Given the description of an element on the screen output the (x, y) to click on. 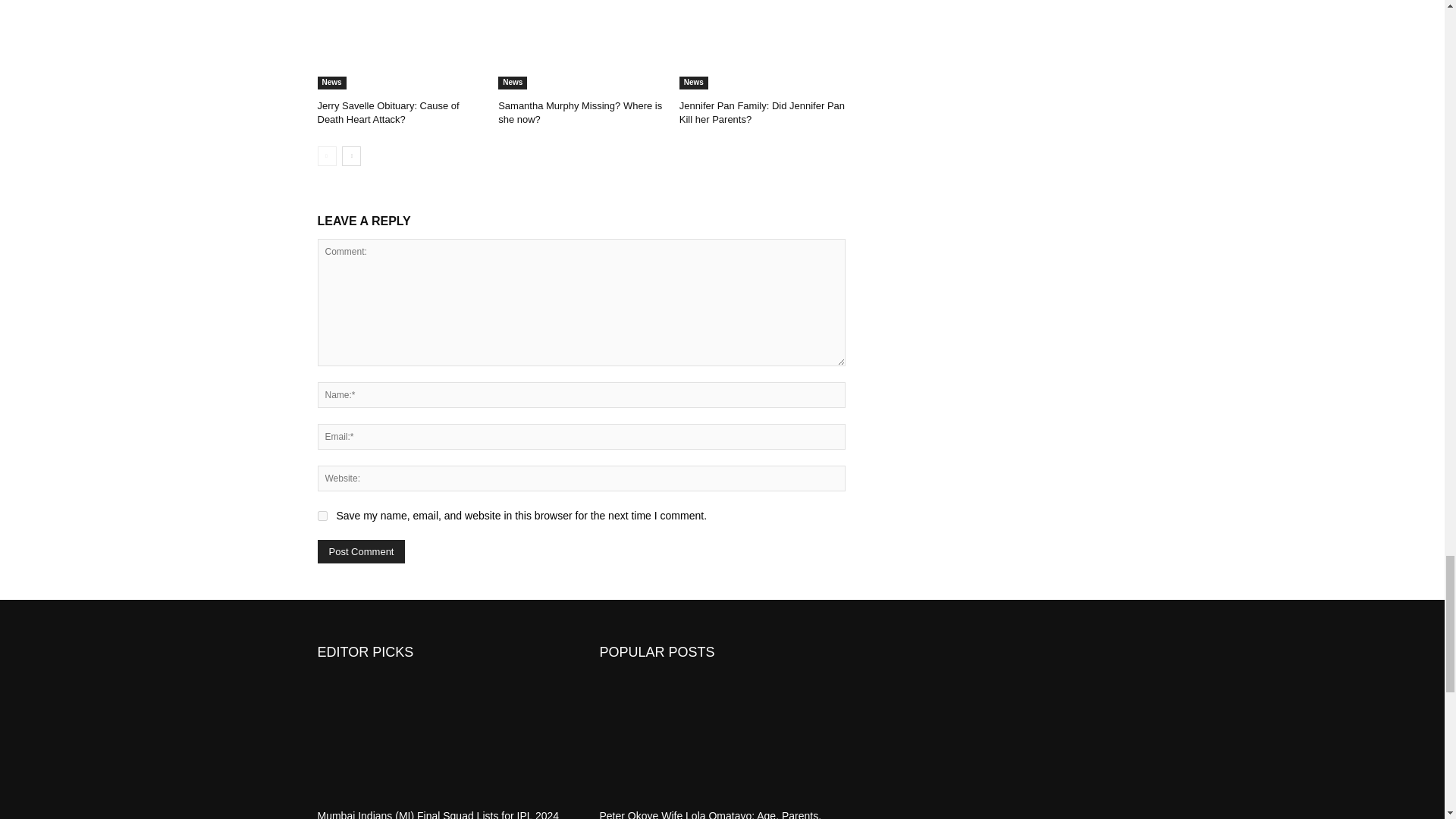
yes (321, 515)
Post Comment (360, 551)
